Given the description of an element on the screen output the (x, y) to click on. 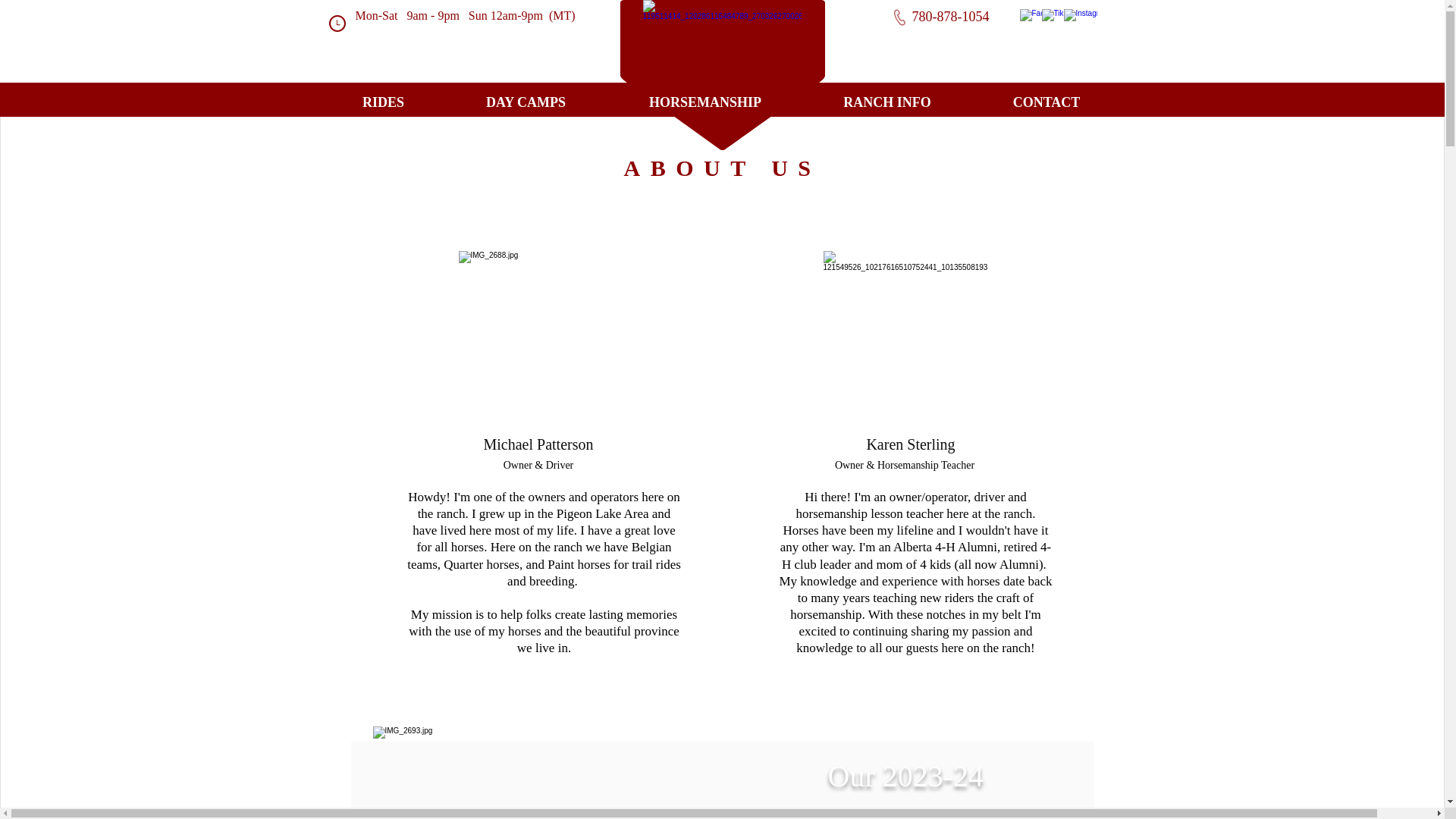
guy2.jpg (539, 332)
RIDES (383, 102)
DAY CAMPS (526, 102)
HORSEMANSHIP (705, 102)
guy4.jpg (905, 332)
CONTACT (1046, 102)
